Given the description of an element on the screen output the (x, y) to click on. 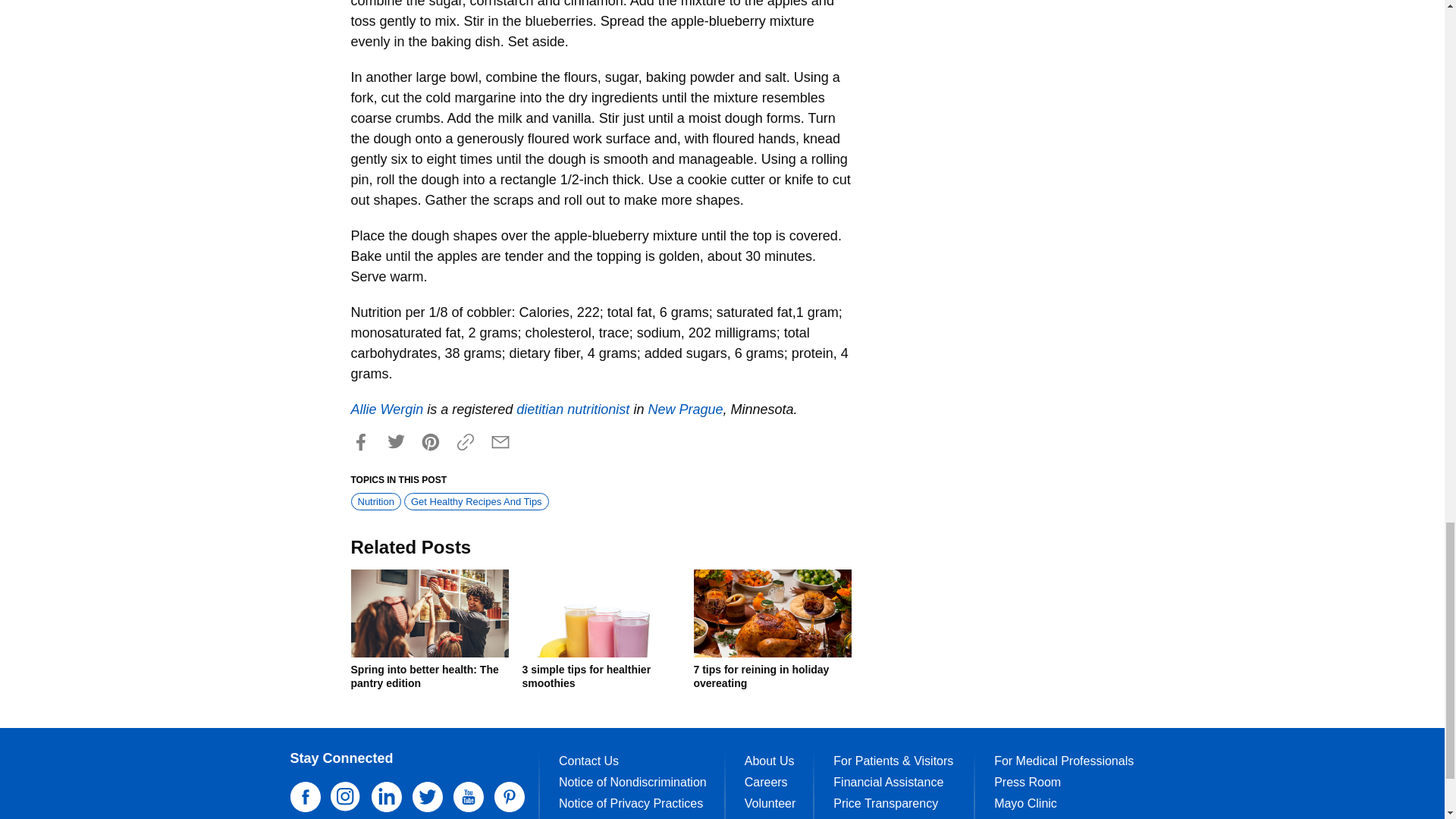
Opens in same window. (572, 409)
Opens in same window. (684, 409)
Thanksgiving meal with turkey, Brussel sprouts and apple pie (771, 613)
Opens in same window. (386, 409)
